Given the description of an element on the screen output the (x, y) to click on. 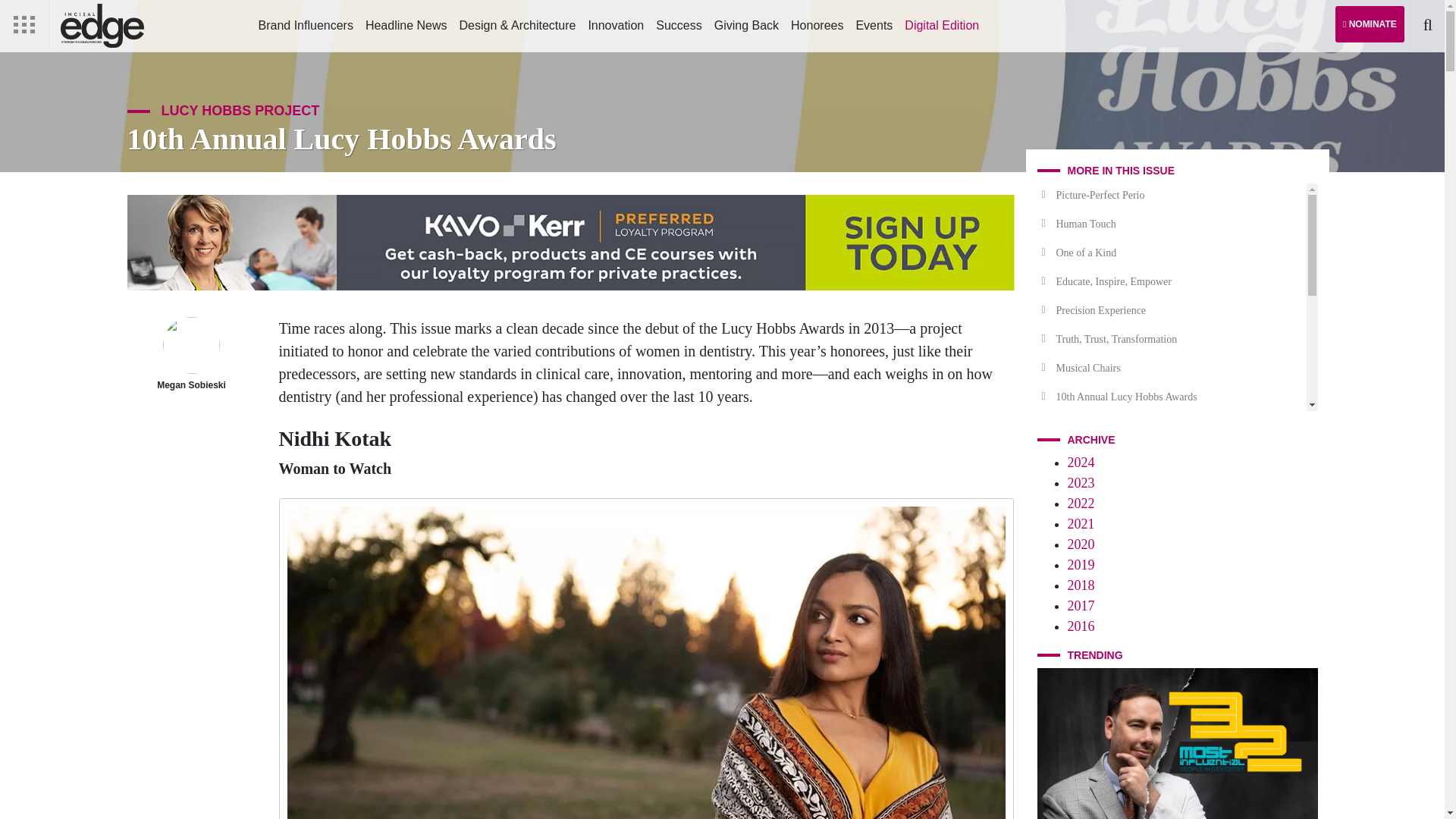
NOMINATE (1370, 23)
